Given the description of an element on the screen output the (x, y) to click on. 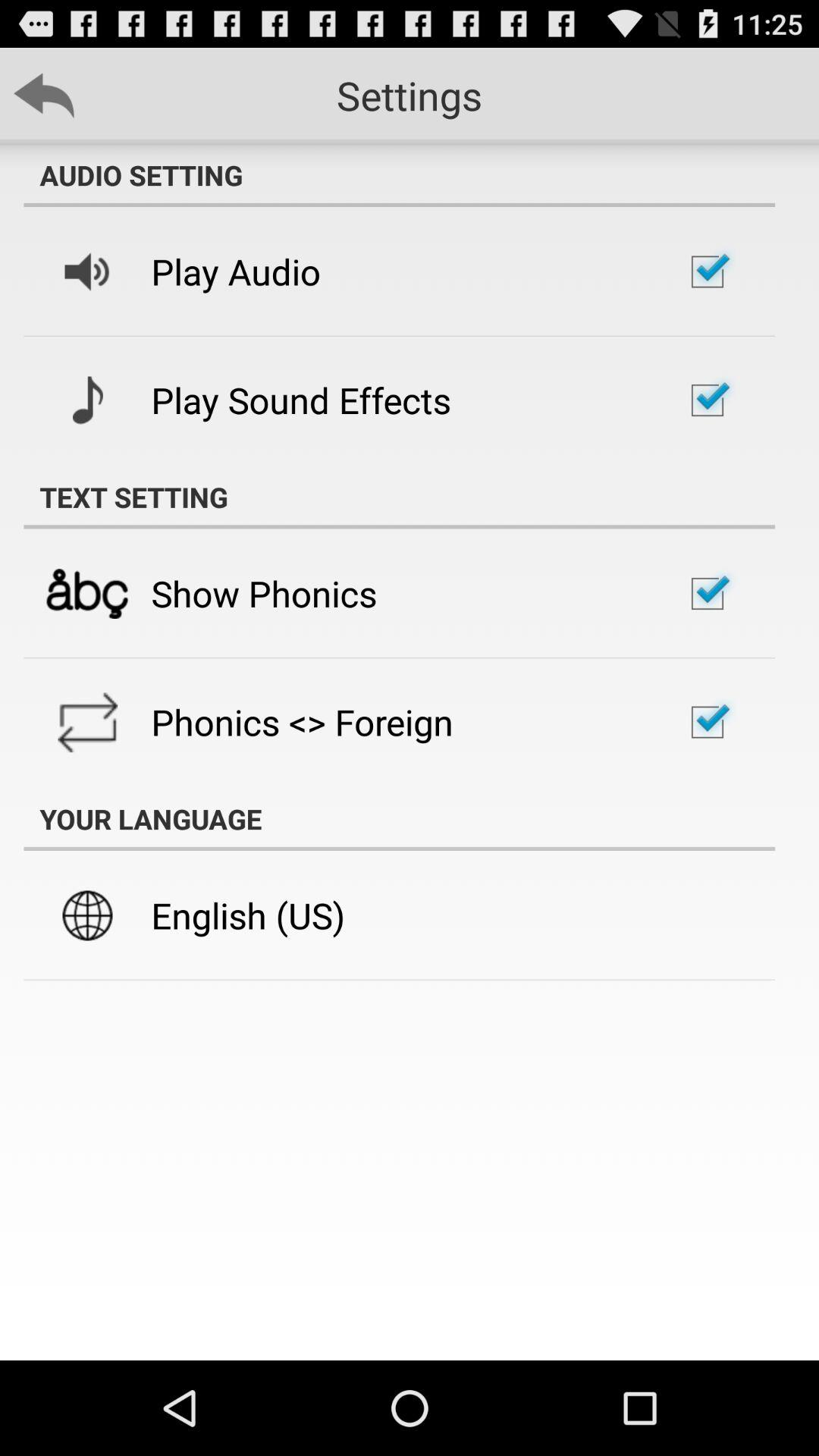
jump until the show phonics item (264, 593)
